Given the description of an element on the screen output the (x, y) to click on. 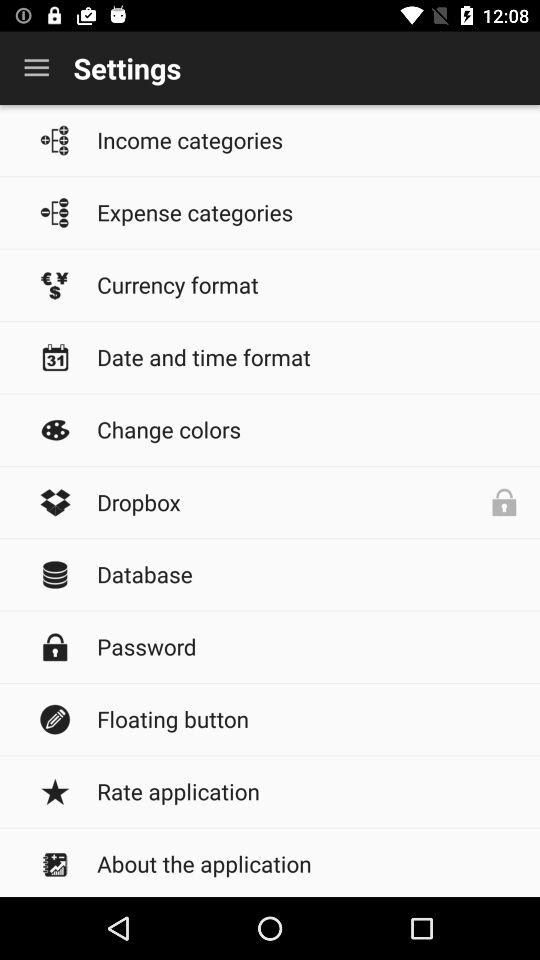
flip to income categories (308, 139)
